Given the description of an element on the screen output the (x, y) to click on. 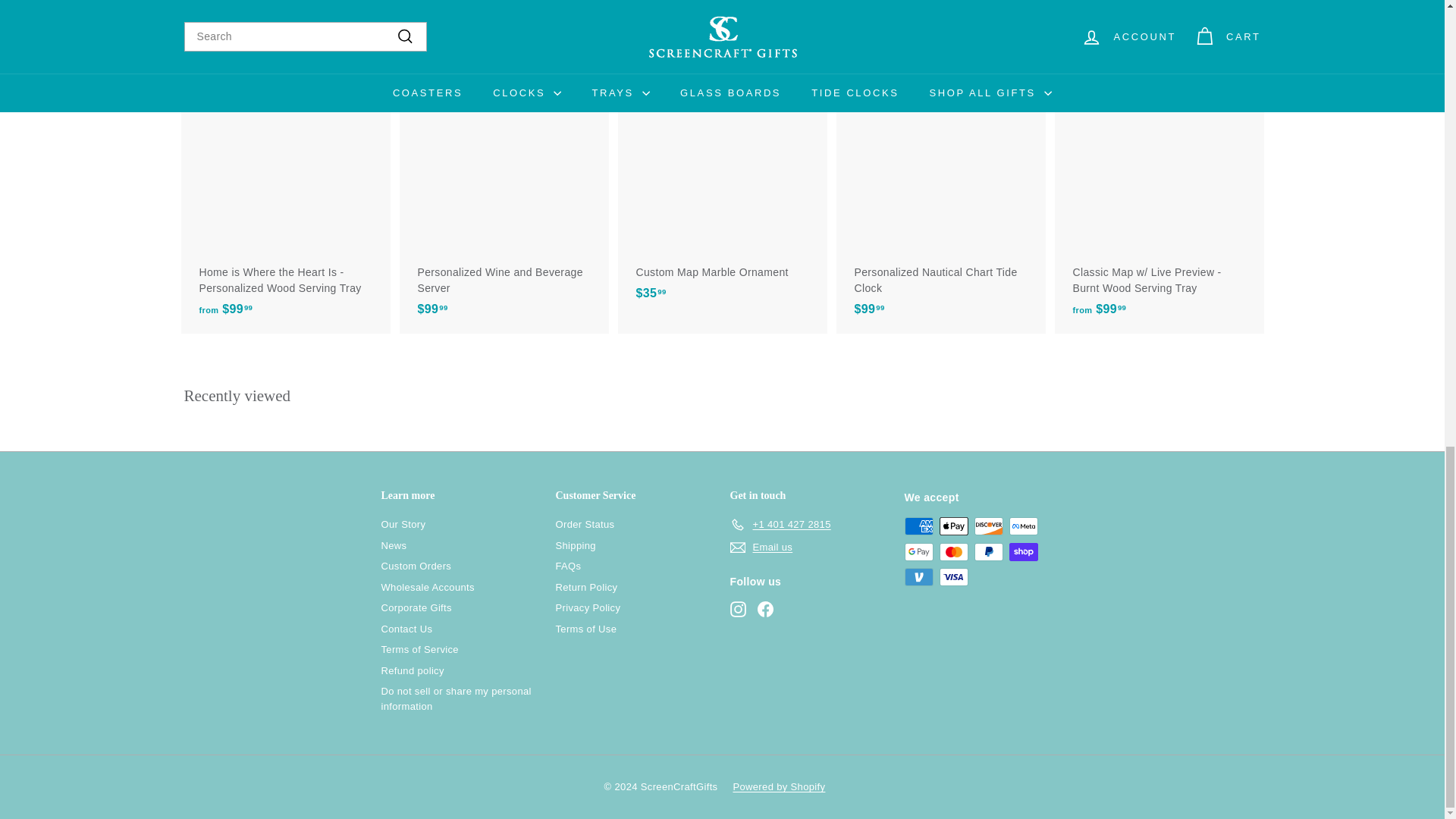
ScreenCraftGifts on Instagram (737, 609)
instagram (737, 609)
Apple Pay (953, 525)
ScreenCraftGifts on Facebook (765, 609)
Discover (988, 525)
Meta Pay (1022, 525)
American Express (918, 525)
